Given the description of an element on the screen output the (x, y) to click on. 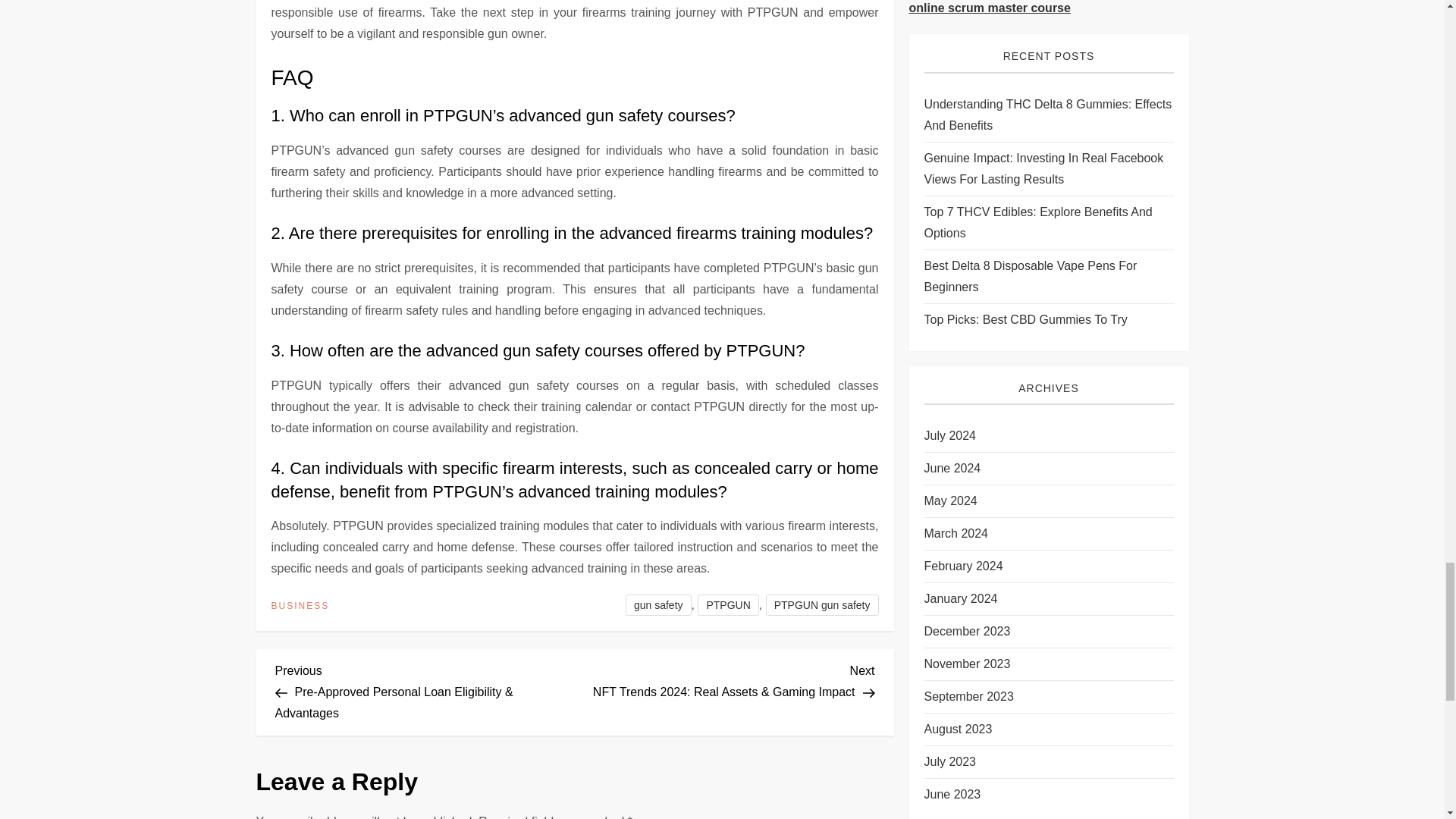
PTPGUN gun safety (822, 604)
gun safety (658, 604)
PTPGUN (727, 604)
BUSINESS (300, 606)
